Given the description of an element on the screen output the (x, y) to click on. 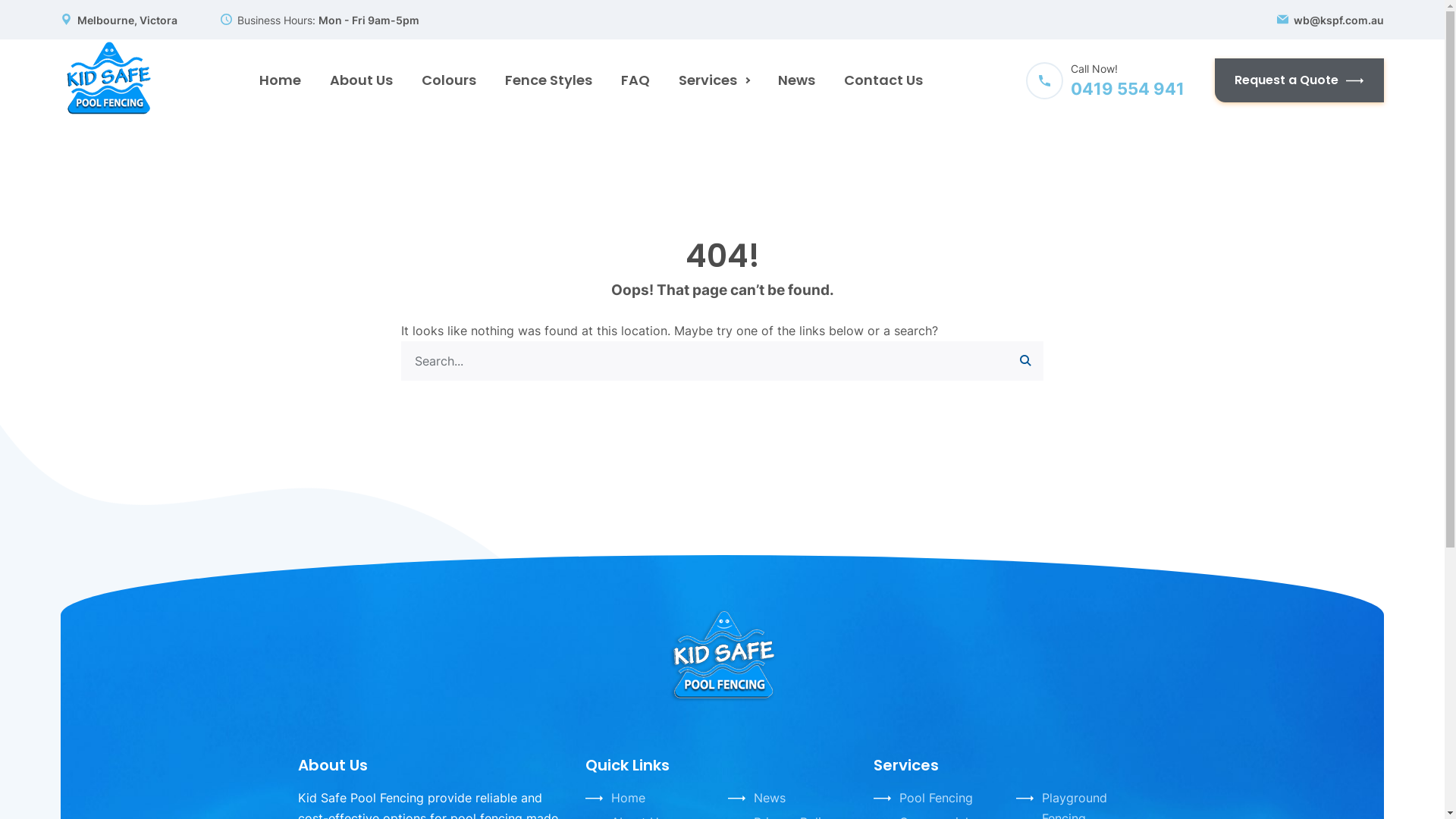
Call Now!
0419 554 941 Element type: text (1106, 80)
About Us Element type: text (360, 80)
Colours Element type: text (447, 80)
wb@kspf.com.au Element type: text (1338, 20)
Request a Quote Element type: text (1298, 80)
Fence Styles Element type: text (547, 80)
FAQ Element type: text (635, 80)
Pool Fencing Element type: text (935, 797)
Services Element type: text (713, 80)
Home Element type: text (279, 80)
News Element type: text (769, 797)
News Element type: text (795, 80)
Contact Us Element type: text (883, 80)
Home Element type: text (628, 797)
